Given the description of an element on the screen output the (x, y) to click on. 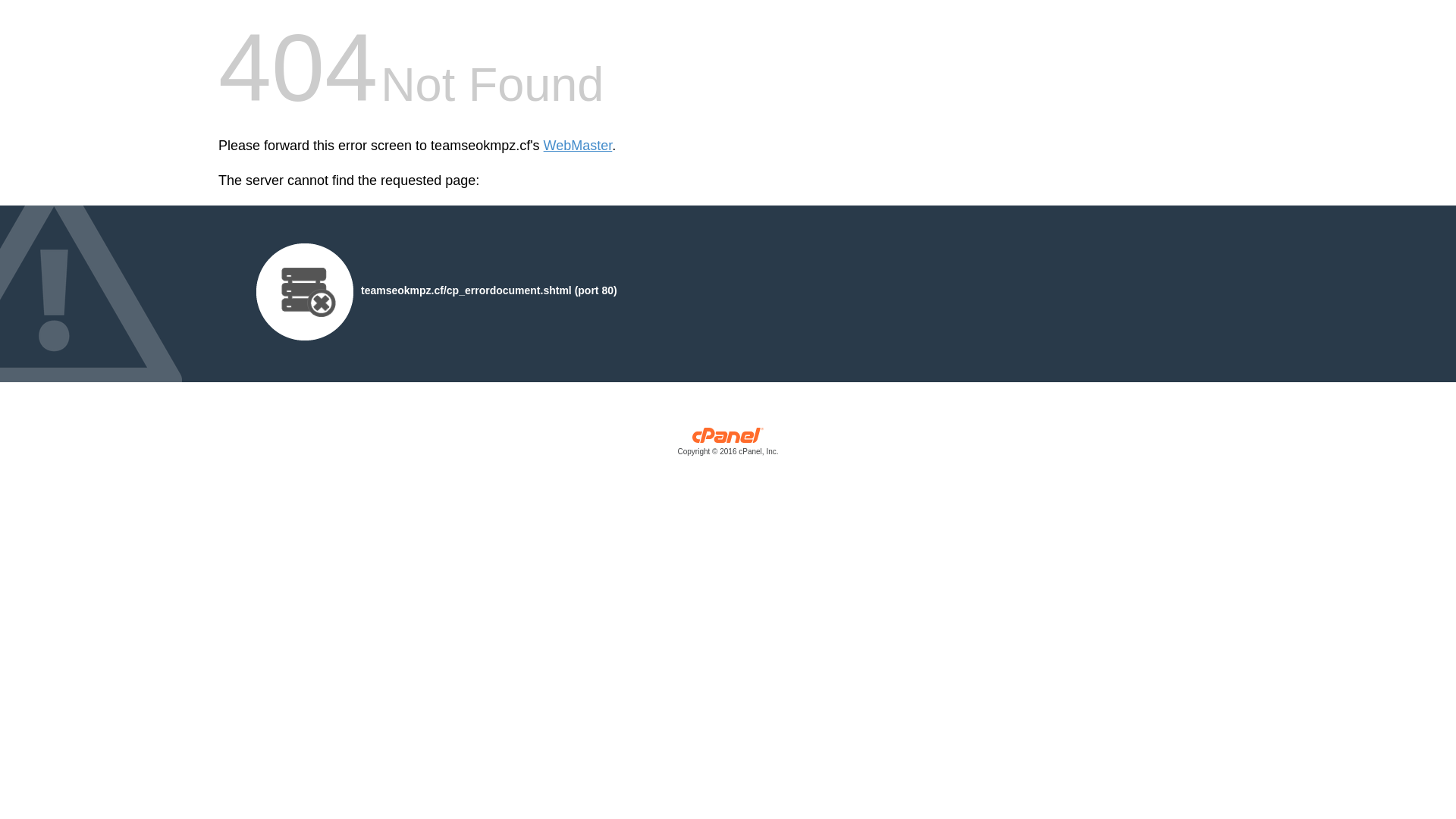
WebMaster Element type: text (577, 145)
